Given the description of an element on the screen output the (x, y) to click on. 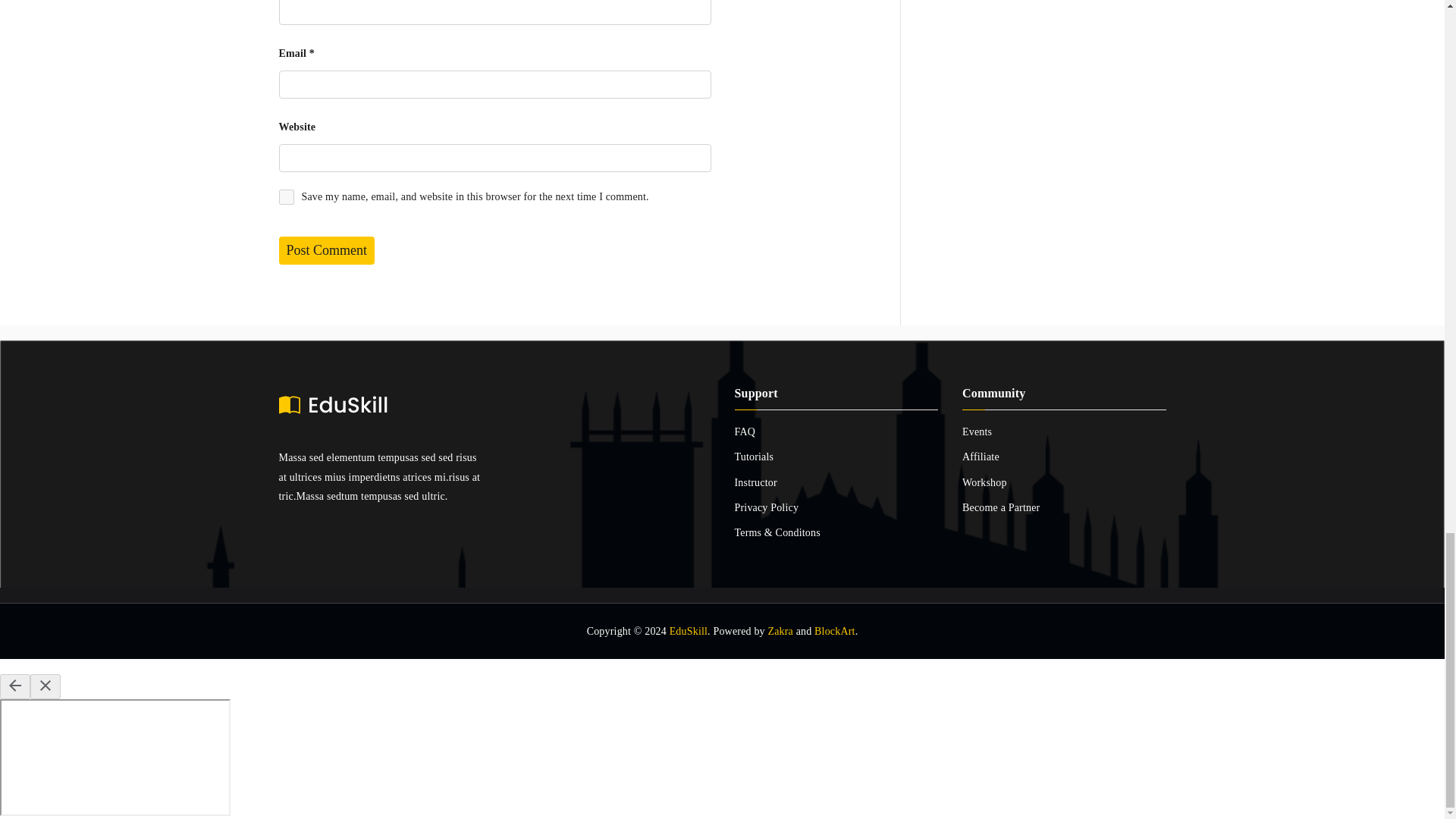
Post Comment (327, 250)
Tutorials (835, 456)
Post Comment (327, 250)
Privacy Policy (835, 506)
Zakra (780, 631)
EduSkill (688, 631)
BlockArt (834, 631)
Instructor (835, 482)
FAQ (835, 431)
yes (286, 196)
